Given the description of an element on the screen output the (x, y) to click on. 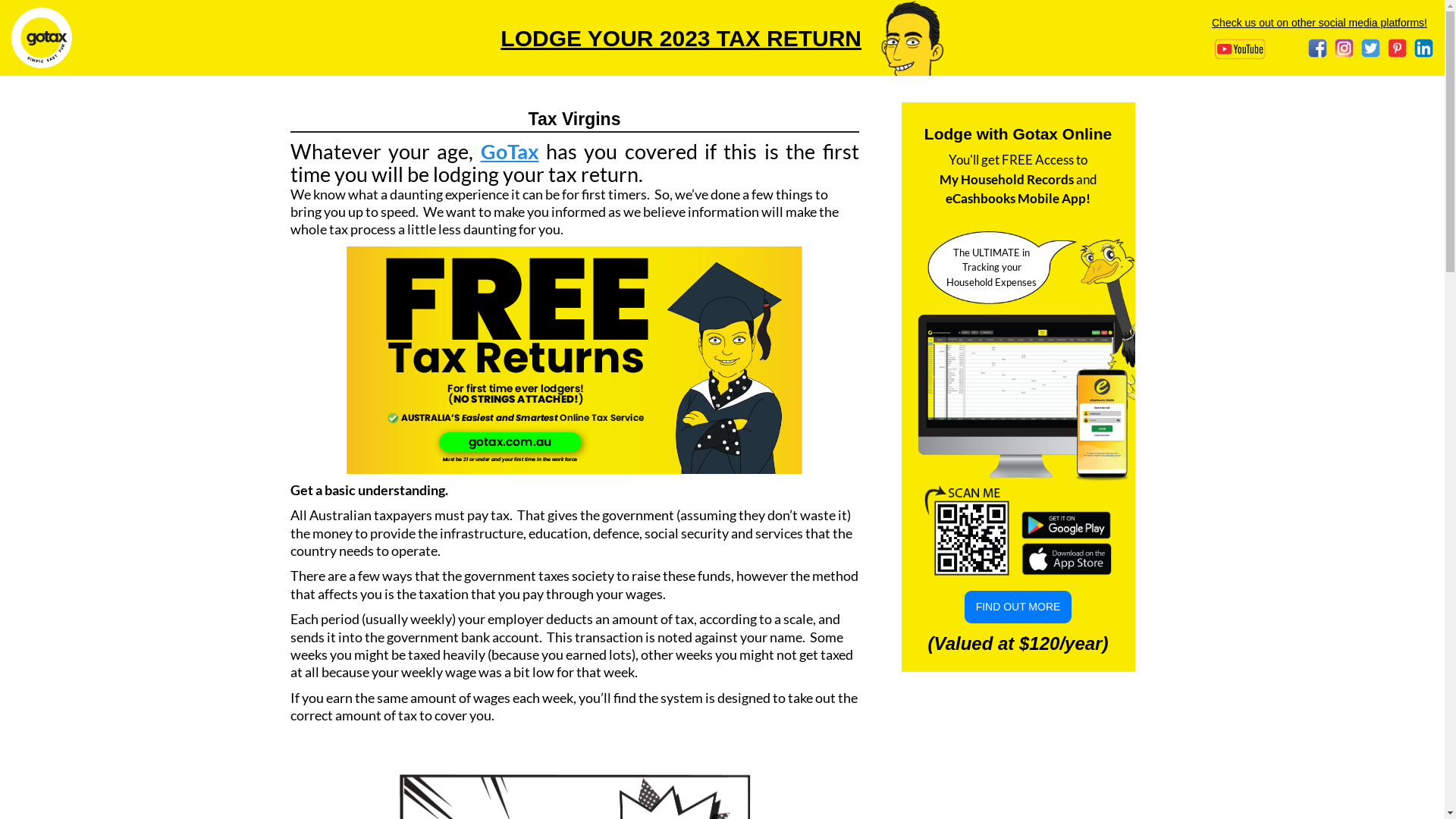
LinkedIn Element type: hover (1423, 47)
Facebook Element type: hover (1317, 47)
GoTax Element type: text (509, 150)
Instagram Element type: hover (1343, 47)
Youtube Element type: hover (1226, 43)
Twitter Element type: hover (1370, 47)
Pinterest Element type: hover (1396, 47)
Gotax Online Tax Returns Element type: hover (41, 37)
FIND OUT MORE Element type: text (1018, 606)
Free Online Income Tax Return Element type: hover (574, 359)
